Given the description of an element on the screen output the (x, y) to click on. 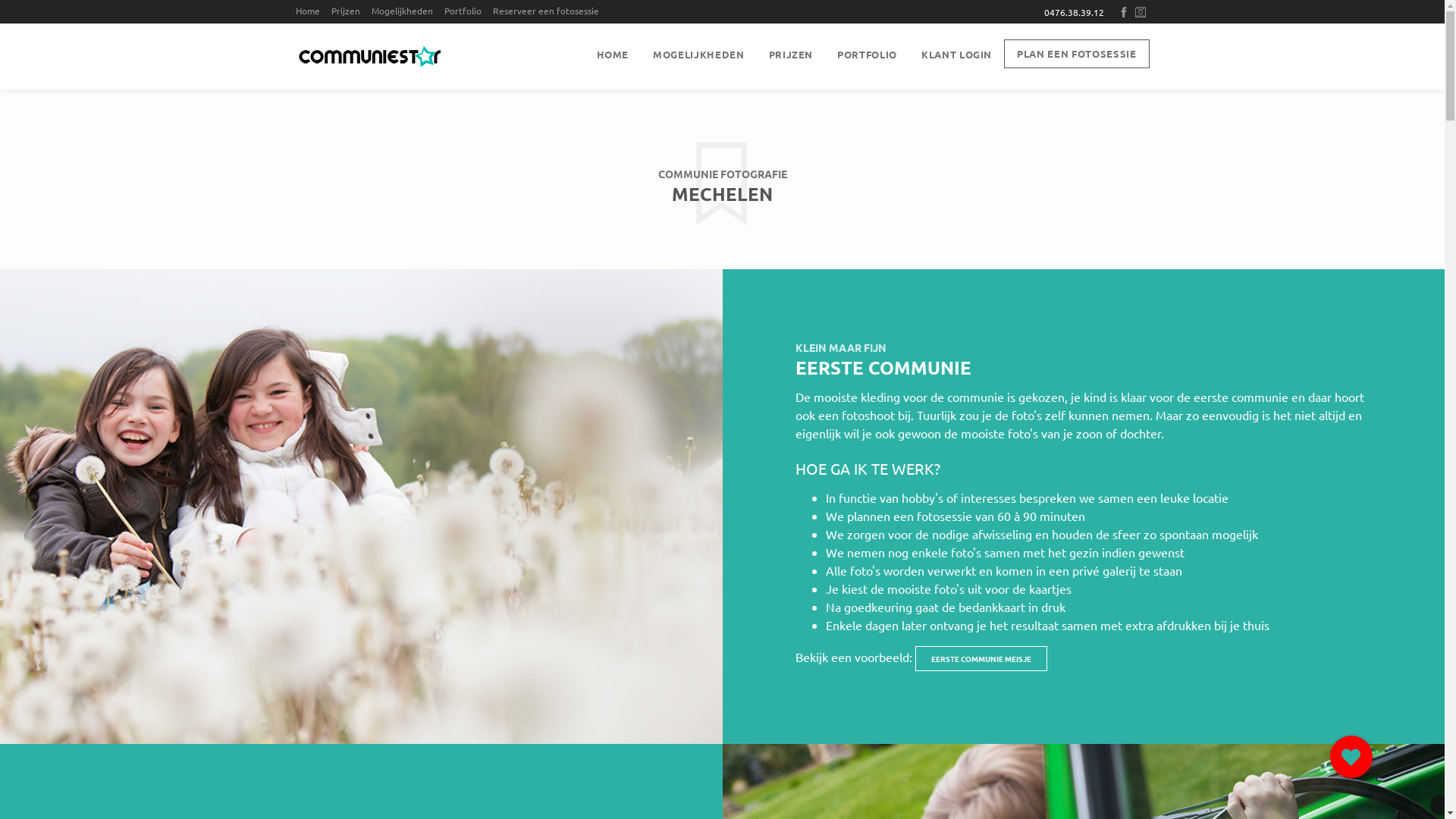
Portfolio Element type: text (467, 10)
instagram Element type: hover (1141, 11)
KLANT LOGIN Element type: text (956, 54)
Prijzen Element type: text (349, 10)
EERSTE COMMUNIE MEISJE Element type: text (980, 658)
PORTFOLIO Element type: text (867, 54)
Home Element type: text (312, 10)
facebook Element type: hover (1124, 11)
Reserveer een fotosessie Element type: text (550, 10)
HOME Element type: text (611, 54)
PLAN EEN FOTOSESSIE Element type: text (1076, 53)
PRIJZEN Element type: text (790, 54)
Mogelijkheden Element type: text (406, 10)
MOGELIJKHEDEN Element type: text (698, 54)
